Given the description of an element on the screen output the (x, y) to click on. 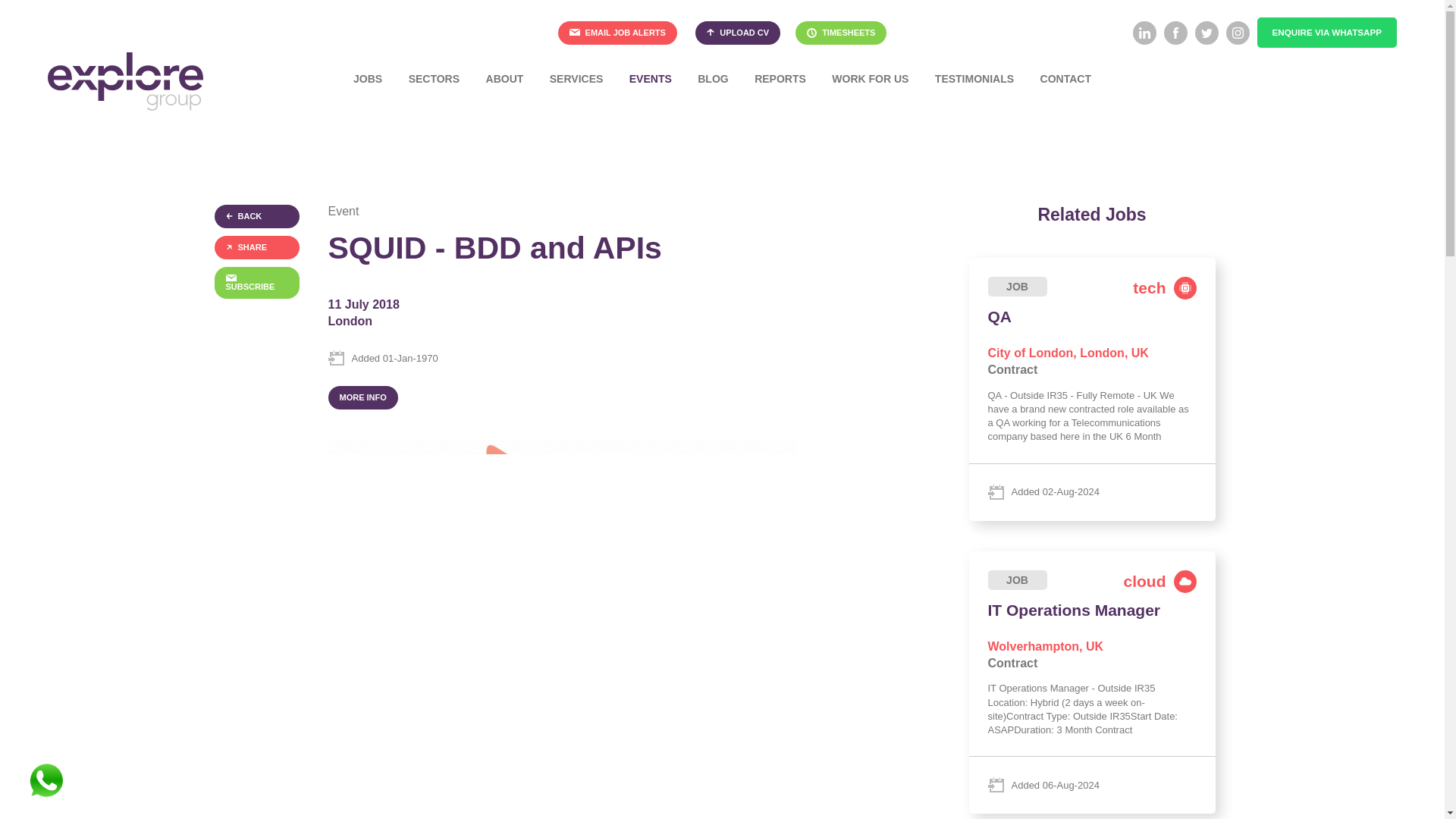
QA (1092, 388)
REPORTS (779, 79)
EVENTS (649, 79)
TESTIMONIALS (974, 79)
IT Operations Manager (1092, 682)
ENQUIRE VIA WHATSAPP (1326, 32)
WORK FOR US (870, 79)
EMAIL JOB ALERTS (617, 33)
BUTTON-ICON-ARROW-DIAGONAL (228, 246)
SERVICES (576, 79)
